Given the description of an element on the screen output the (x, y) to click on. 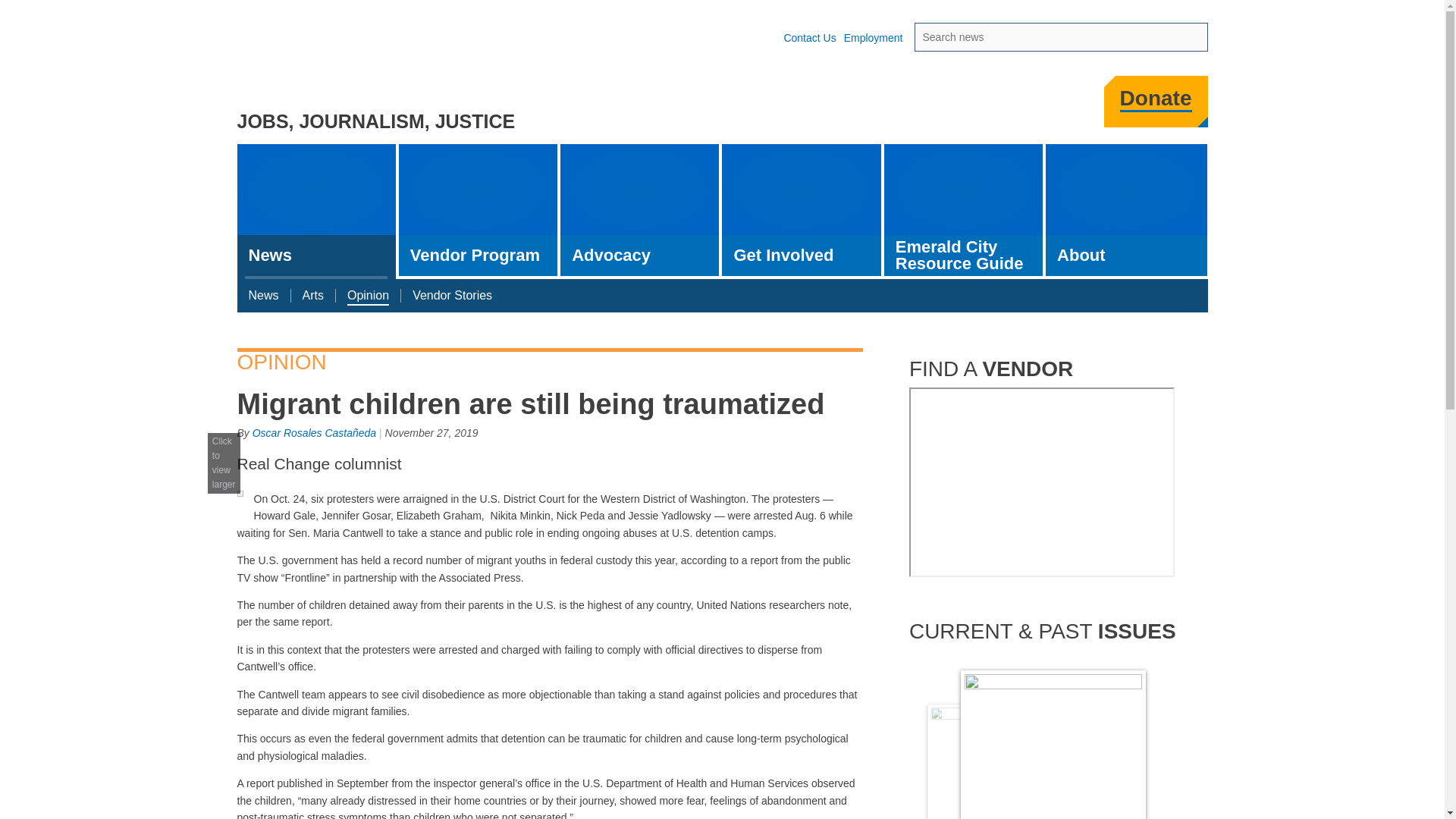
About (1126, 210)
Emerald City Resource Guide (962, 210)
View user profile. (313, 432)
Instagram (950, 105)
Twitter (909, 105)
LinkedIn (1032, 105)
Donate (1155, 99)
RSS (1073, 105)
YouTube (991, 105)
